Given the description of an element on the screen output the (x, y) to click on. 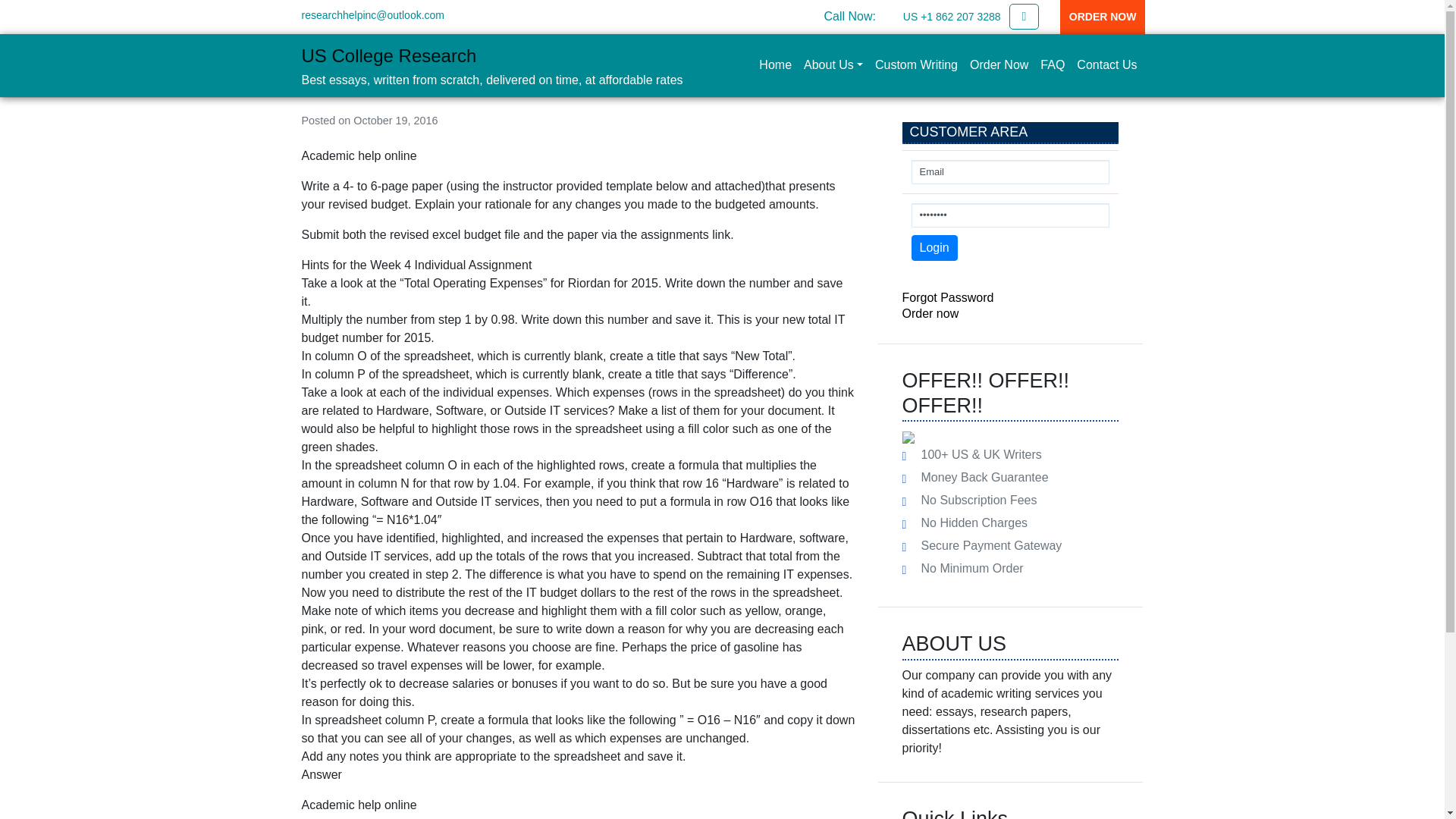
Login (934, 248)
Login (934, 248)
Forgot Password (948, 297)
ORDER NOW (1102, 17)
October 19, 2016 (395, 120)
Home (774, 64)
Order now (930, 313)
Contact Us (1106, 64)
Email (1010, 171)
FAQ (1051, 64)
Custom Writing (916, 64)
US College Research (389, 56)
About Us (833, 64)
Order Now (998, 64)
Password (1010, 215)
